Given the description of an element on the screen output the (x, y) to click on. 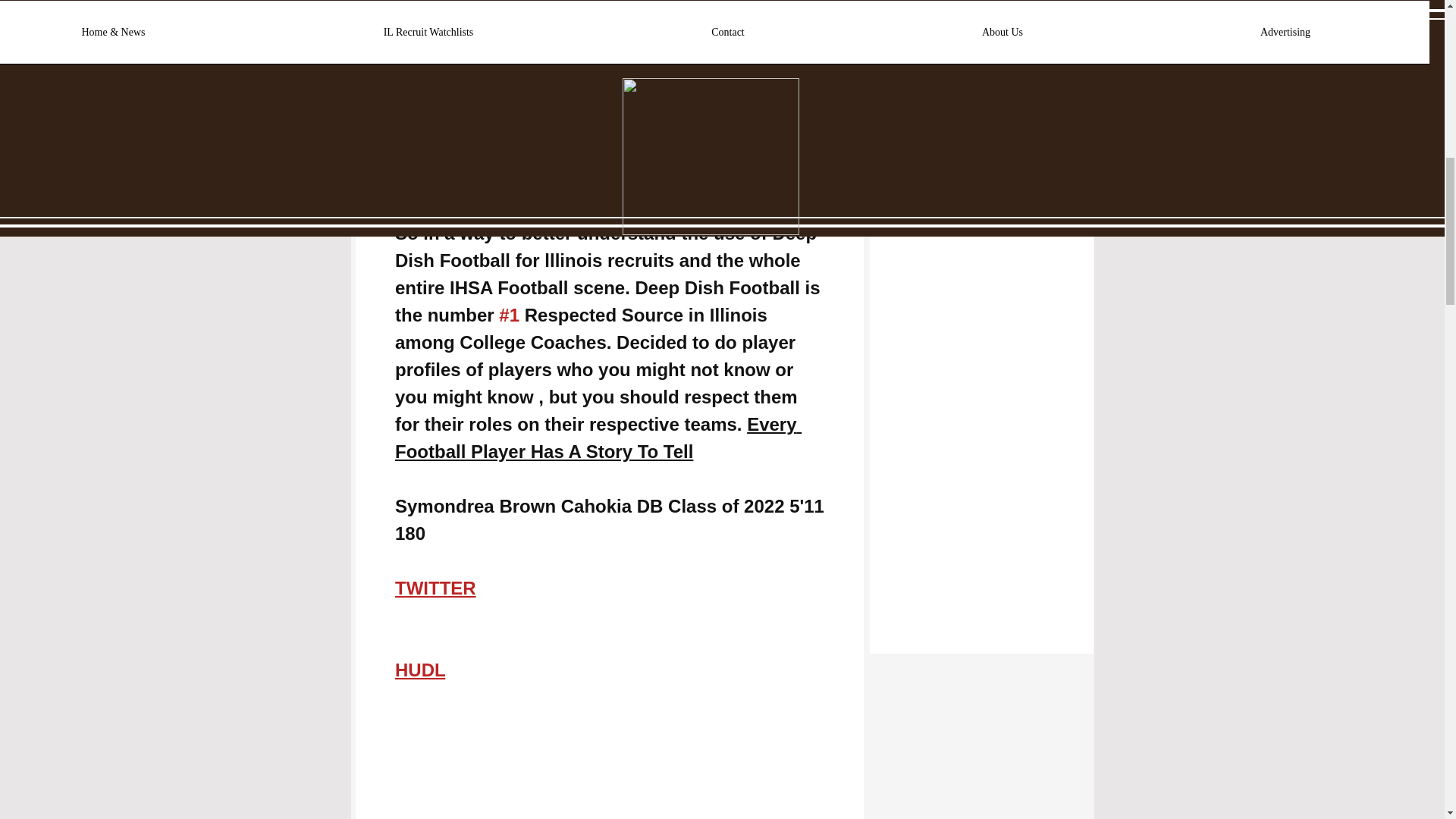
By: Peter "Coach Big Pete" Leinwe (545, 189)
ber (711, 189)
TWITTER (435, 588)
HUDL (419, 670)
